Given the description of an element on the screen output the (x, y) to click on. 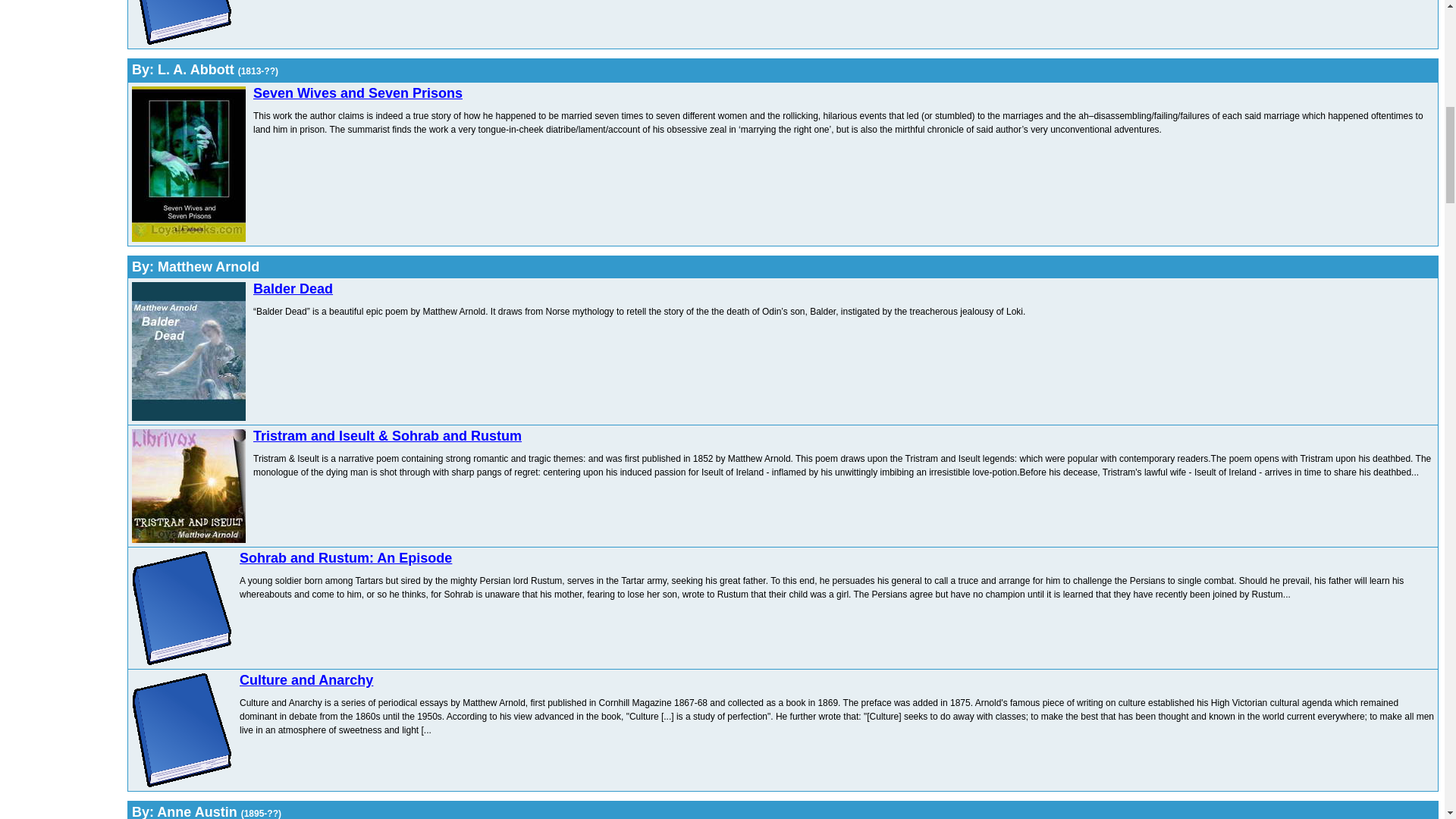
Sohrab and Rustum: An Episode (345, 557)
Seven Wives and Seven Prisons (358, 92)
Balder Dead (293, 288)
Culture and Anarchy (306, 679)
